Given the description of an element on the screen output the (x, y) to click on. 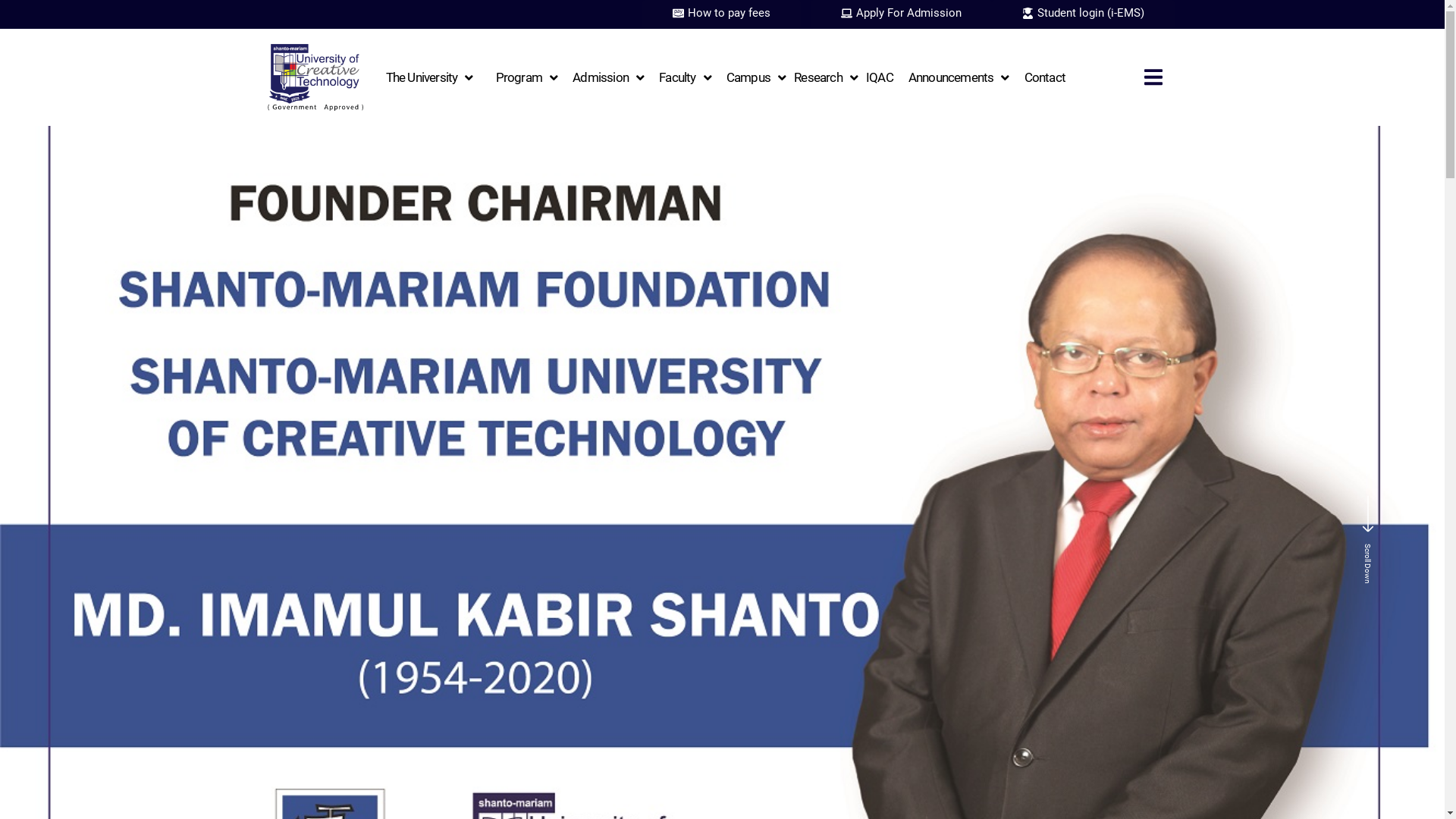
Faculty Element type: text (684, 77)
Contact Element type: text (1044, 77)
Program Element type: text (526, 77)
How to pay fees Element type: text (721, 14)
Campus Element type: text (755, 77)
Research Element type: text (825, 77)
Student login (i-EMS) Element type: text (1082, 14)
IQAC Element type: text (879, 77)
Announcements Element type: text (958, 77)
Admission Element type: text (607, 77)
The University Element type: text (428, 77)
Scroll Down Element type: text (1367, 531)
Apply For Admission Element type: text (900, 14)
